Given the description of an element on the screen output the (x, y) to click on. 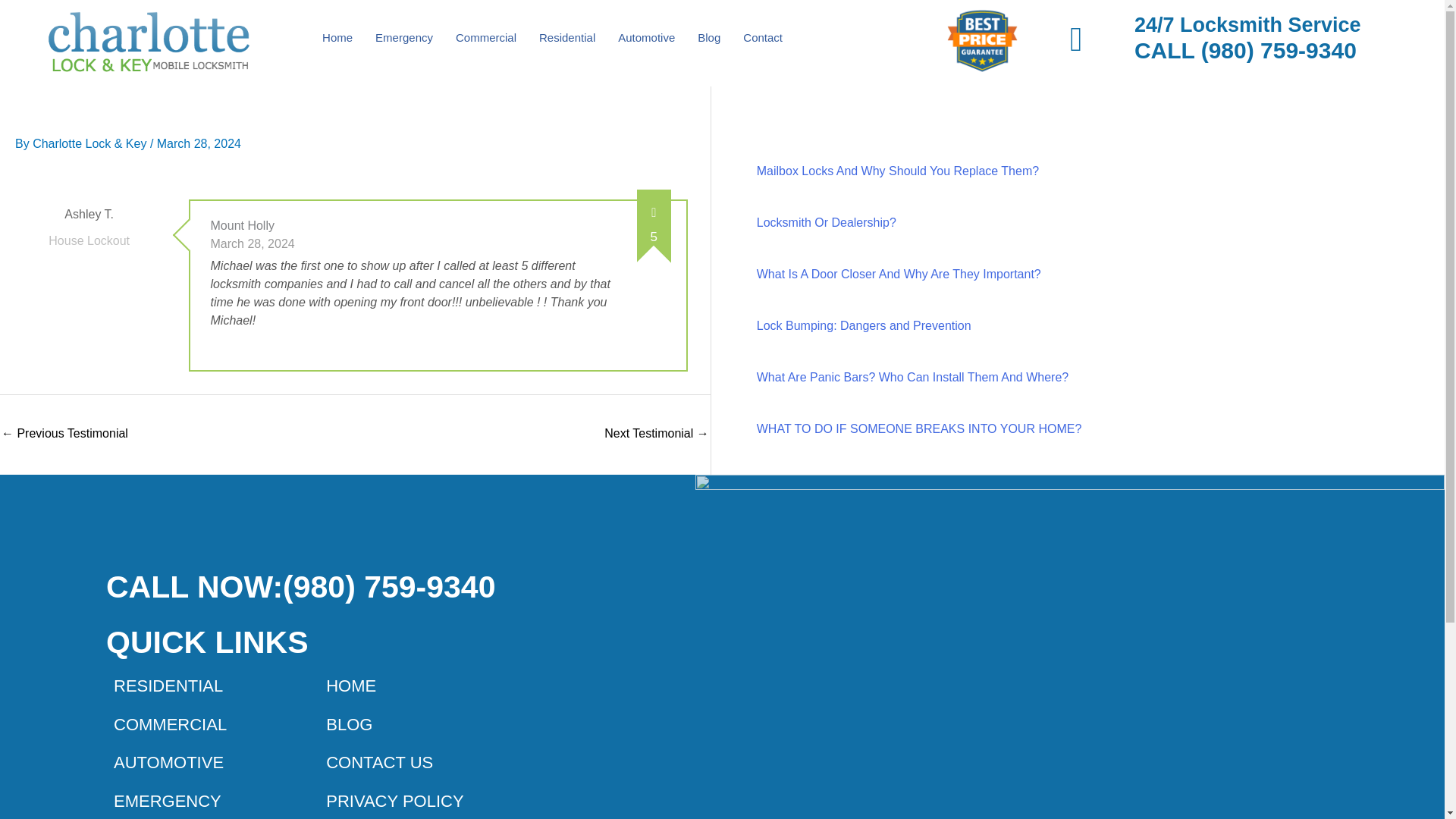
Contact (762, 37)
Commercial (485, 37)
Home (337, 37)
Lock Bumping: Dangers and Prevention (864, 325)
What Are Panic Bars? Who Can Install Them And Where? (912, 377)
What Is A Door Closer And Why Are They Important? (899, 273)
Mailbox Locks And Why Should You Replace Them? (898, 170)
Automotive (646, 37)
Locksmith Or Dealership? (826, 222)
Emergency (404, 37)
Residential (567, 37)
